Given the description of an element on the screen output the (x, y) to click on. 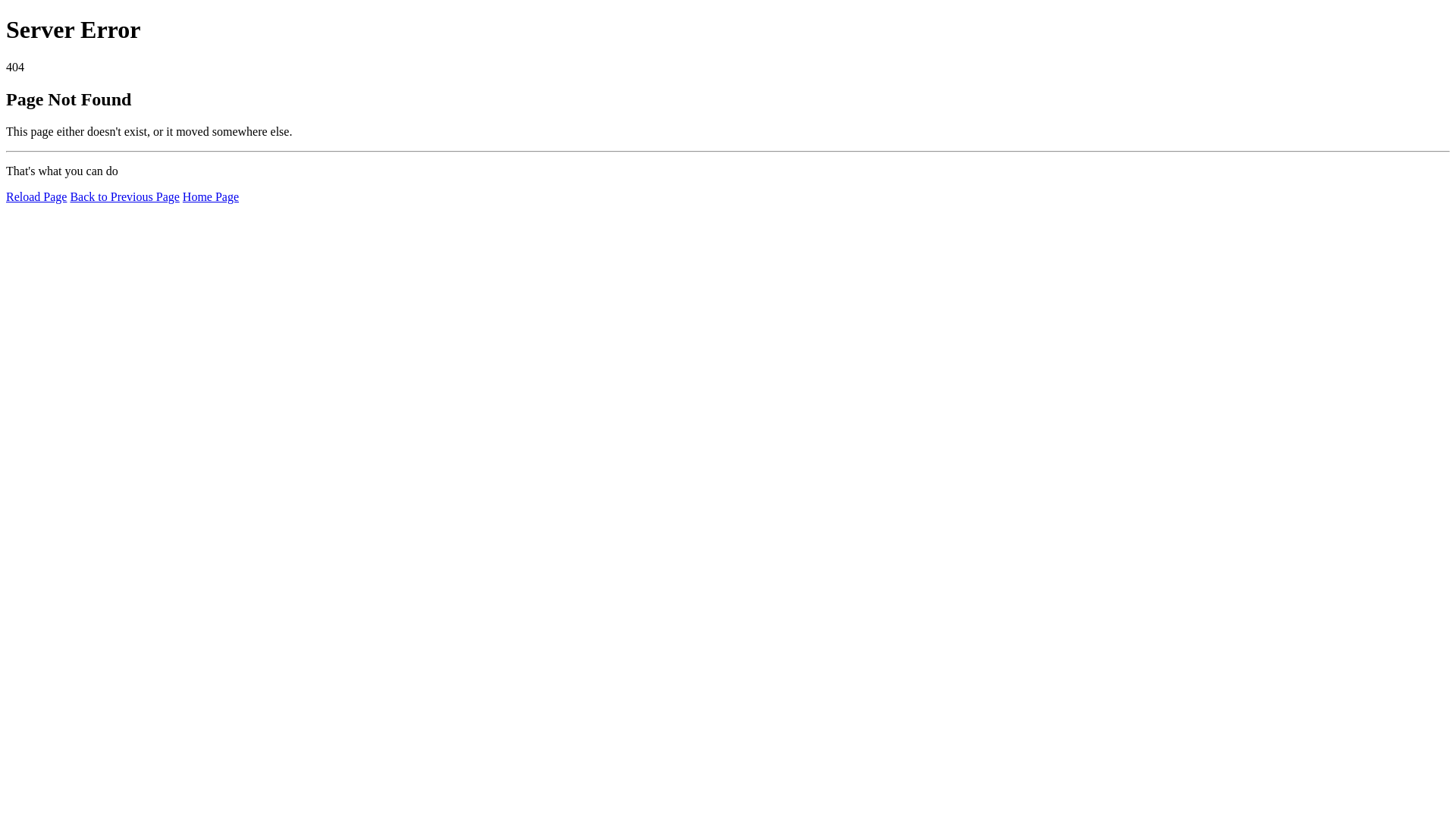
Home Page Element type: text (210, 196)
Back to Previous Page Element type: text (123, 196)
Reload Page Element type: text (36, 196)
